Given the description of an element on the screen output the (x, y) to click on. 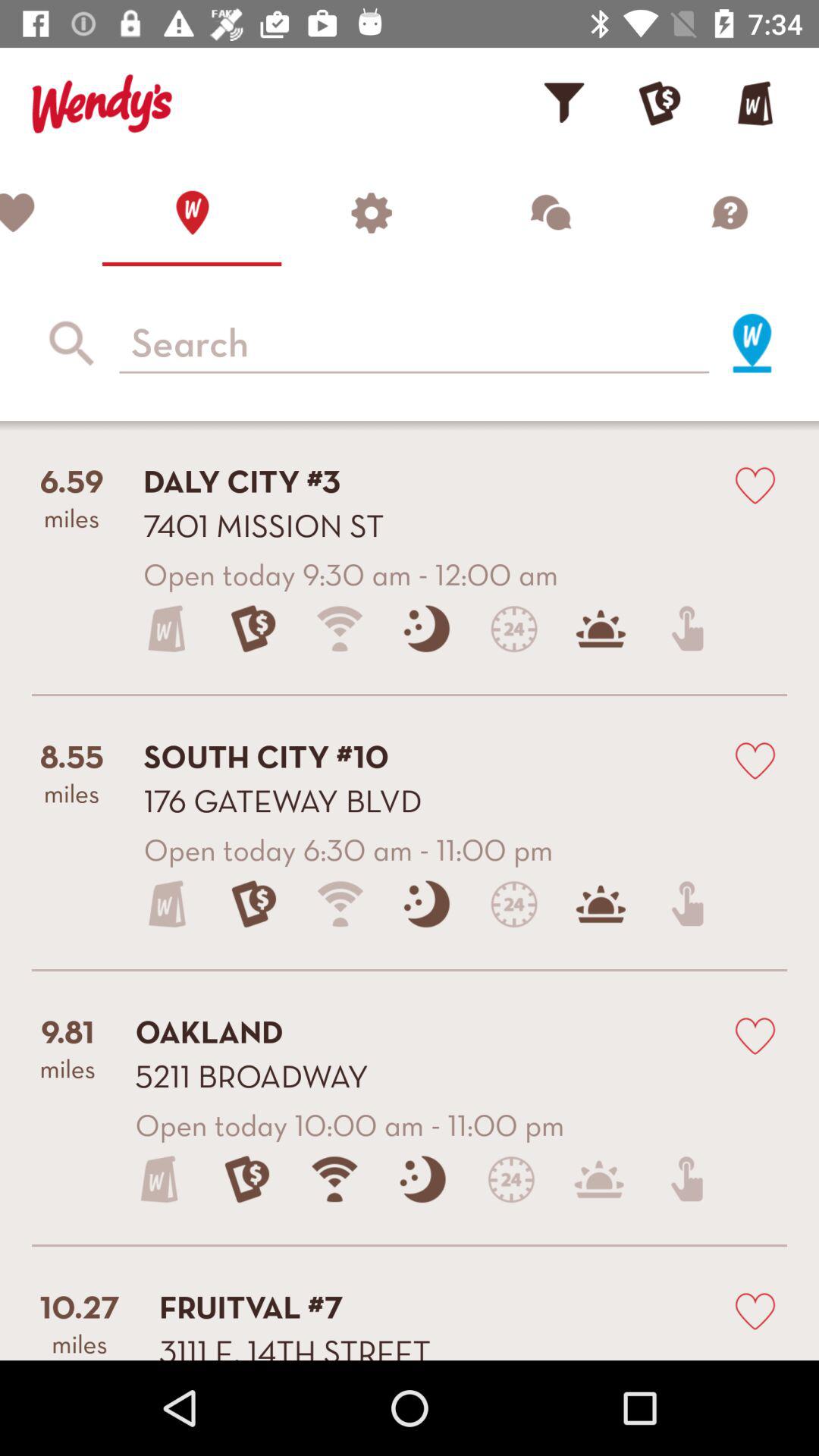
locate store (752, 343)
